Given the description of an element on the screen output the (x, y) to click on. 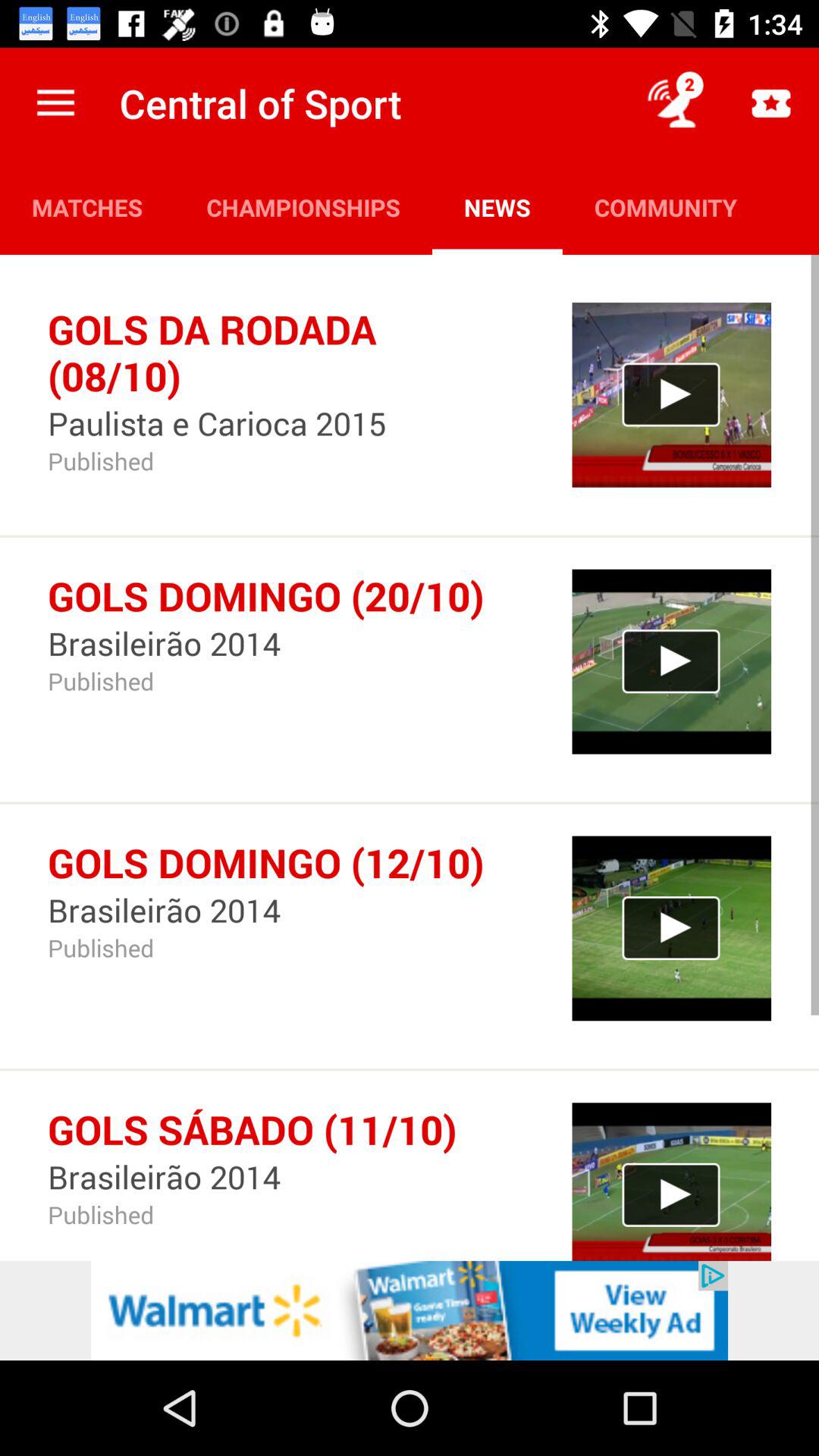
open advertisement (409, 1310)
